Given the description of an element on the screen output the (x, y) to click on. 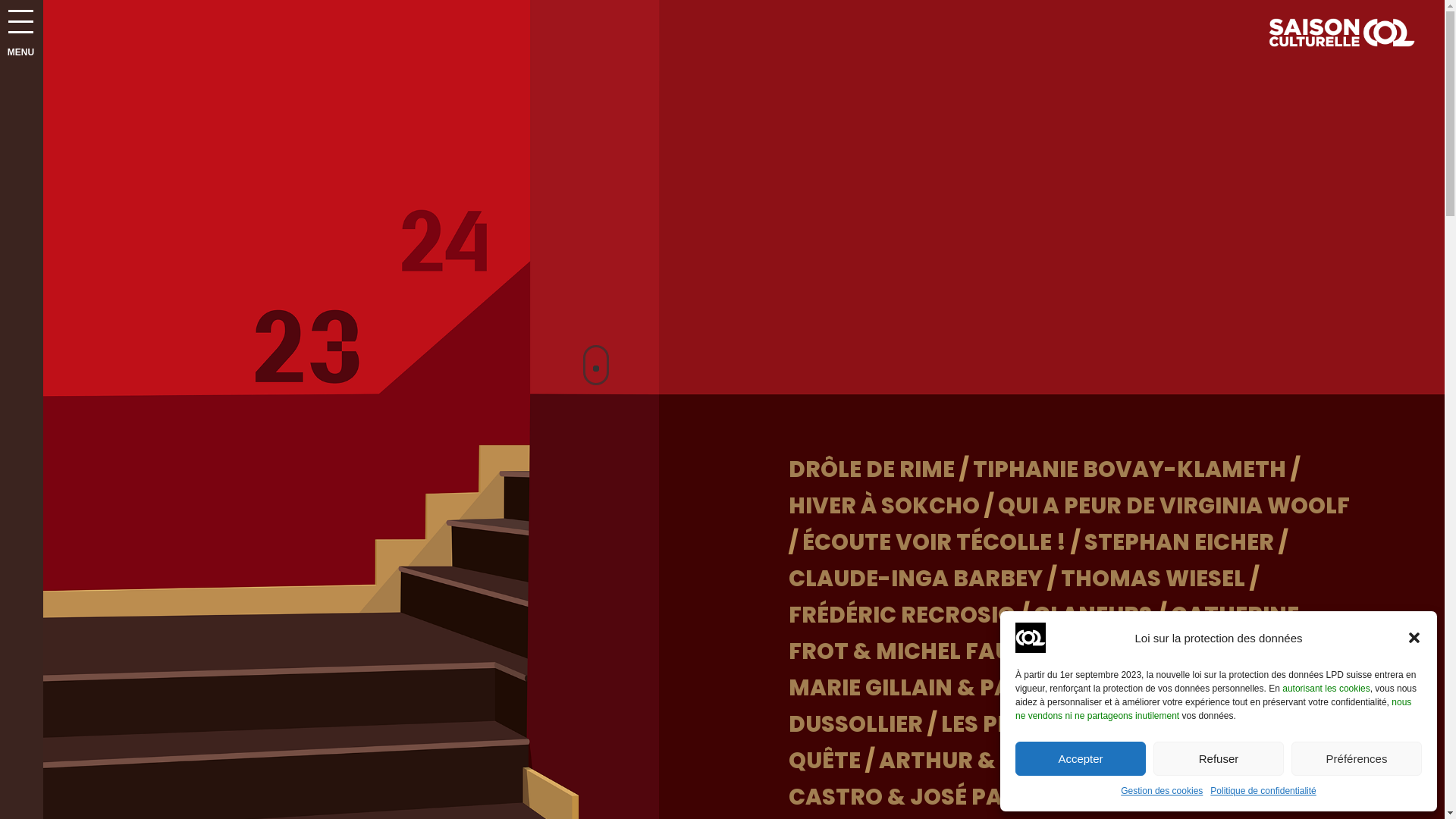
Refuser Element type: text (1218, 758)
Accepter Element type: text (1080, 758)
AN ACCIDENT Element type: text (1245, 796)
STEPHAN EICHER Element type: text (1179, 542)
CLAUDE-INGA BARBEY Element type: text (915, 578)
GLANEURS Element type: text (1092, 614)
QUI A PEUR DE VIRGINIA WOOLF Element type: text (1173, 505)
TIPHANIE BOVAY-KLAMETH Element type: text (1129, 469)
Gestion des cookies Element type: text (1161, 791)
AU DRESSEUR DE CHAPEAUX Element type: text (1186, 651)
CATHERINE FROT & MICHEL FAU Element type: text (1043, 632)
THOMAS WIESEL Element type: text (1152, 578)
